Given the description of an element on the screen output the (x, y) to click on. 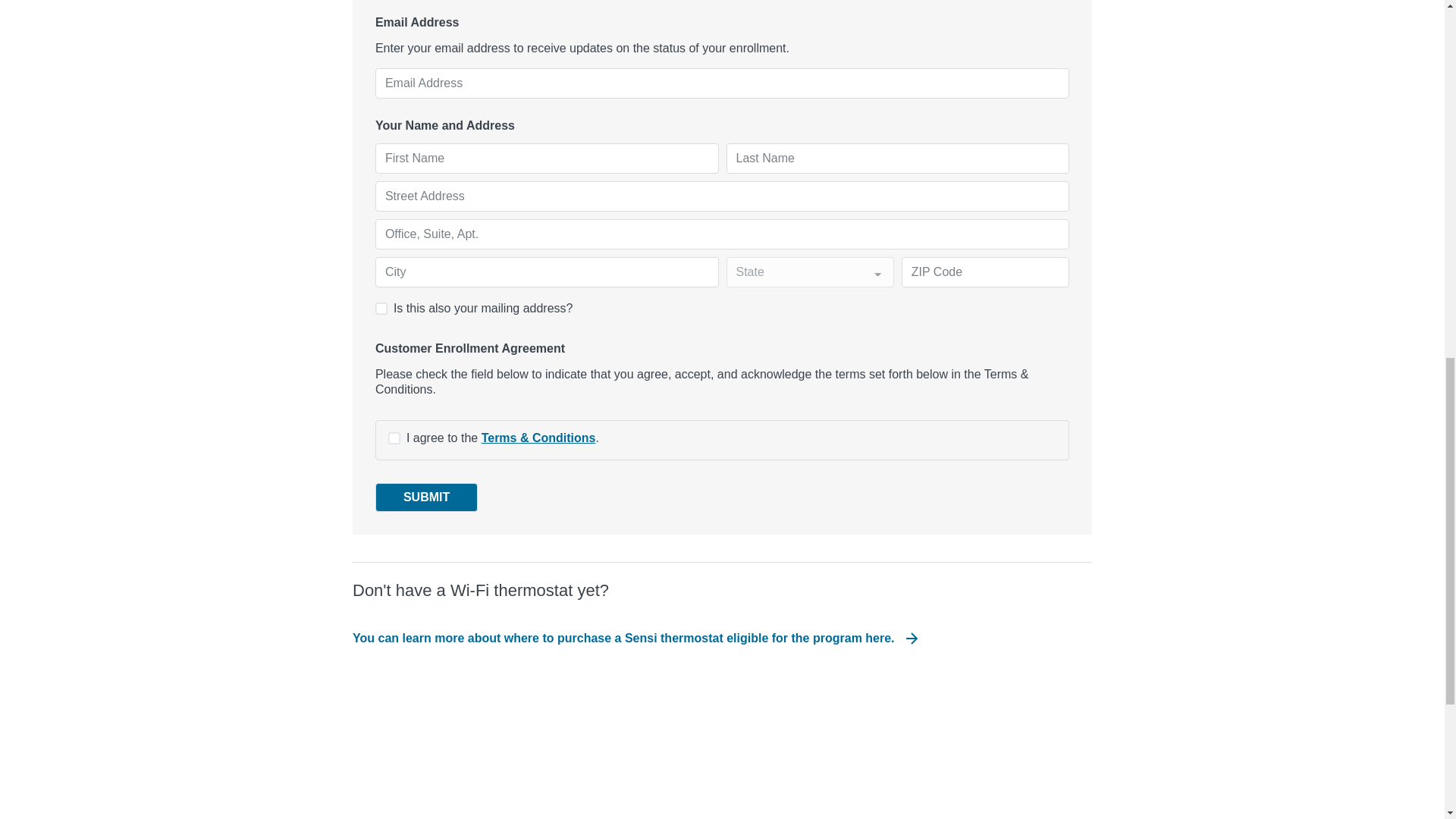
SUBMIT (426, 497)
SUBMIT (426, 497)
